Given the description of an element on the screen output the (x, y) to click on. 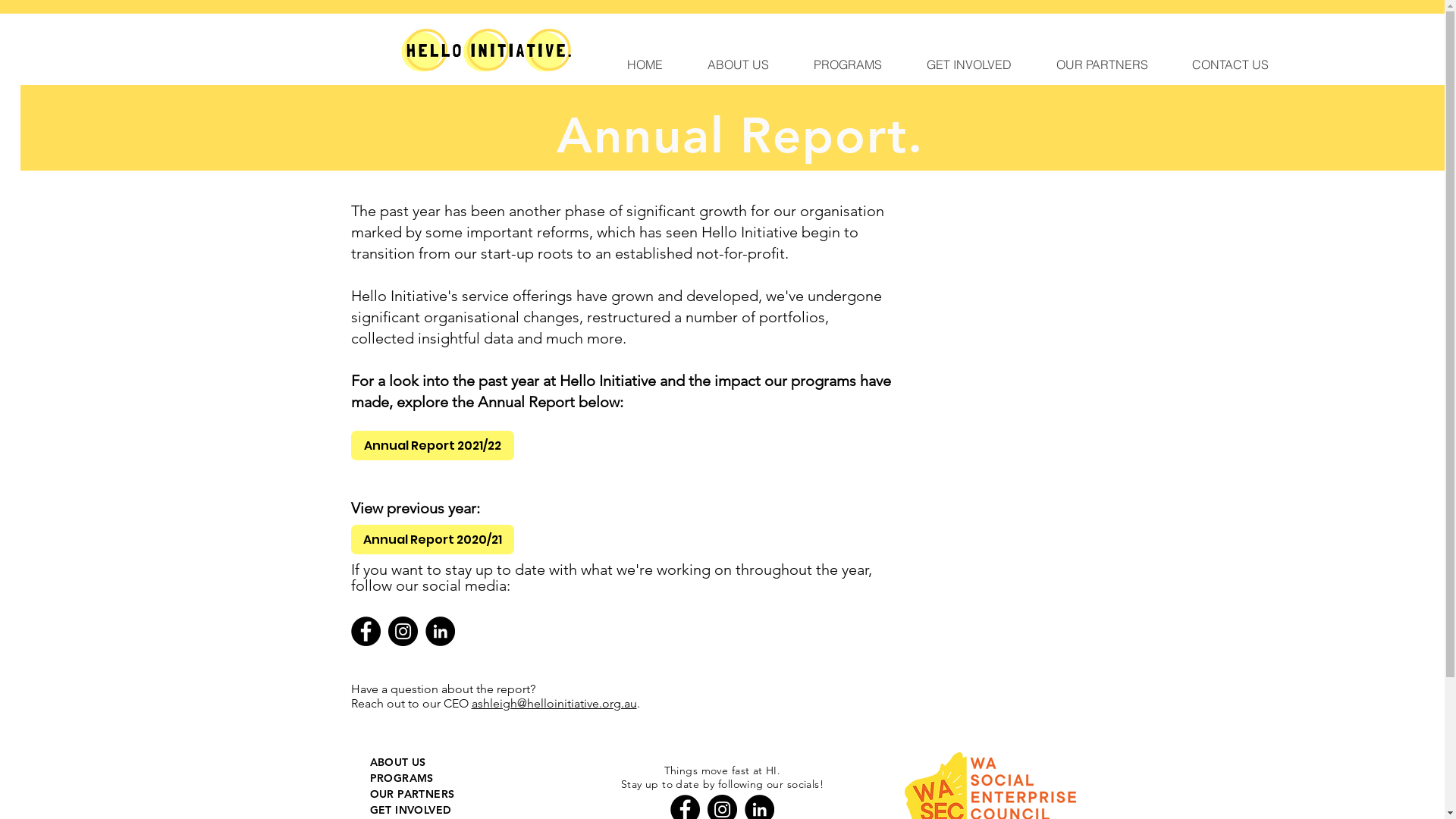
Annual Report 2021/22 Element type: text (431, 445)
PROGRAMS Element type: text (846, 64)
ABOUT US Element type: text (398, 761)
Logo (1).png Element type: hover (348, 46)
OUR PARTNERS Element type: text (412, 793)
GET INVOLVED Element type: text (968, 64)
ashleigh@helloinitiative.org.au Element type: text (554, 703)
CONTACT US Element type: text (1229, 64)
Annual Report 2020/21 Element type: text (431, 539)
HOME Element type: text (644, 64)
OUR PARTNERS Element type: text (1101, 64)
PROGRAMS Element type: text (401, 777)
GET INVOLVED Element type: text (410, 809)
Logo (1).png Element type: hover (352, 46)
Logo (1).png Element type: hover (486, 49)
